Given the description of an element on the screen output the (x, y) to click on. 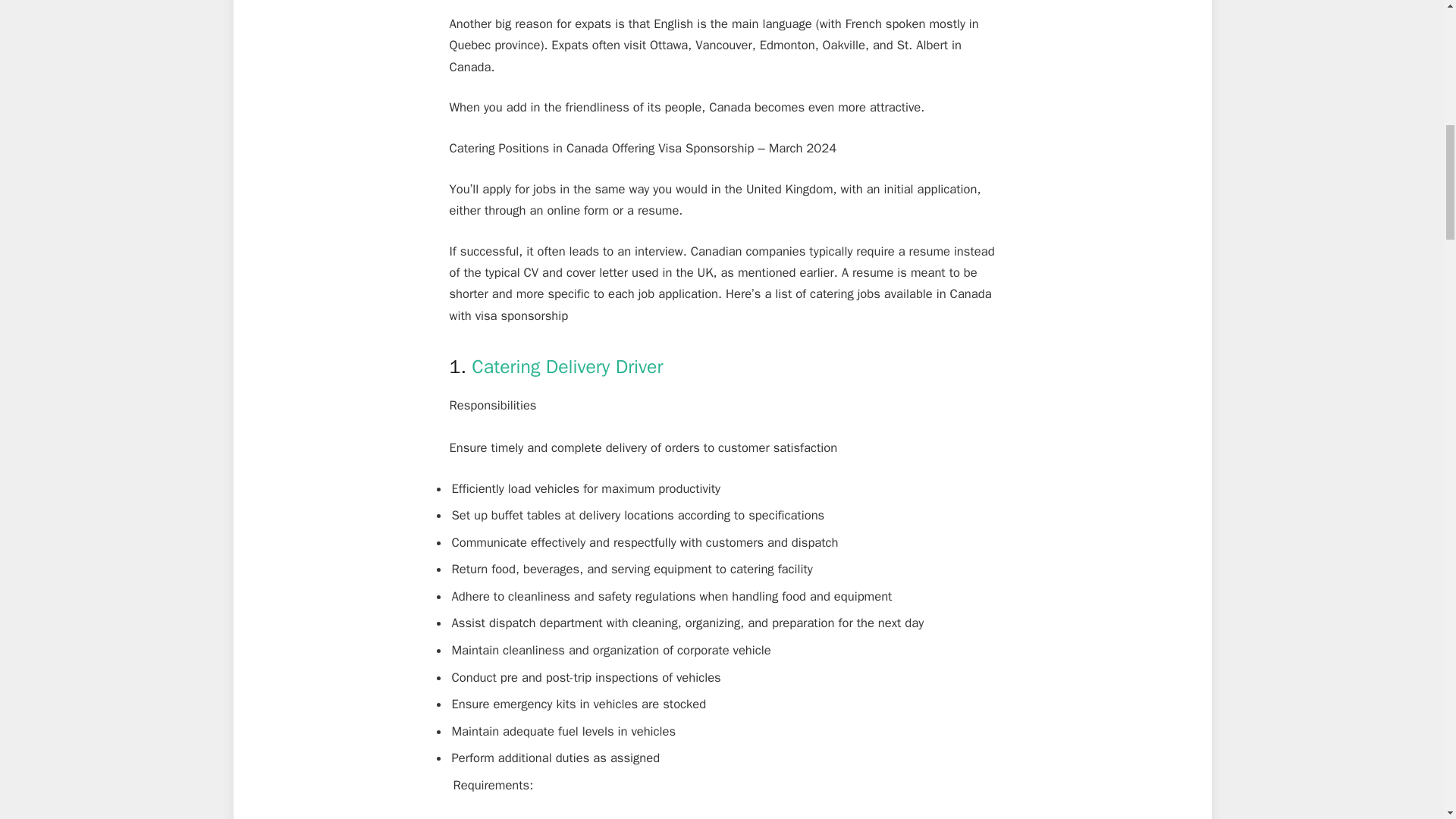
Catering Delivery Driver (566, 366)
